Given the description of an element on the screen output the (x, y) to click on. 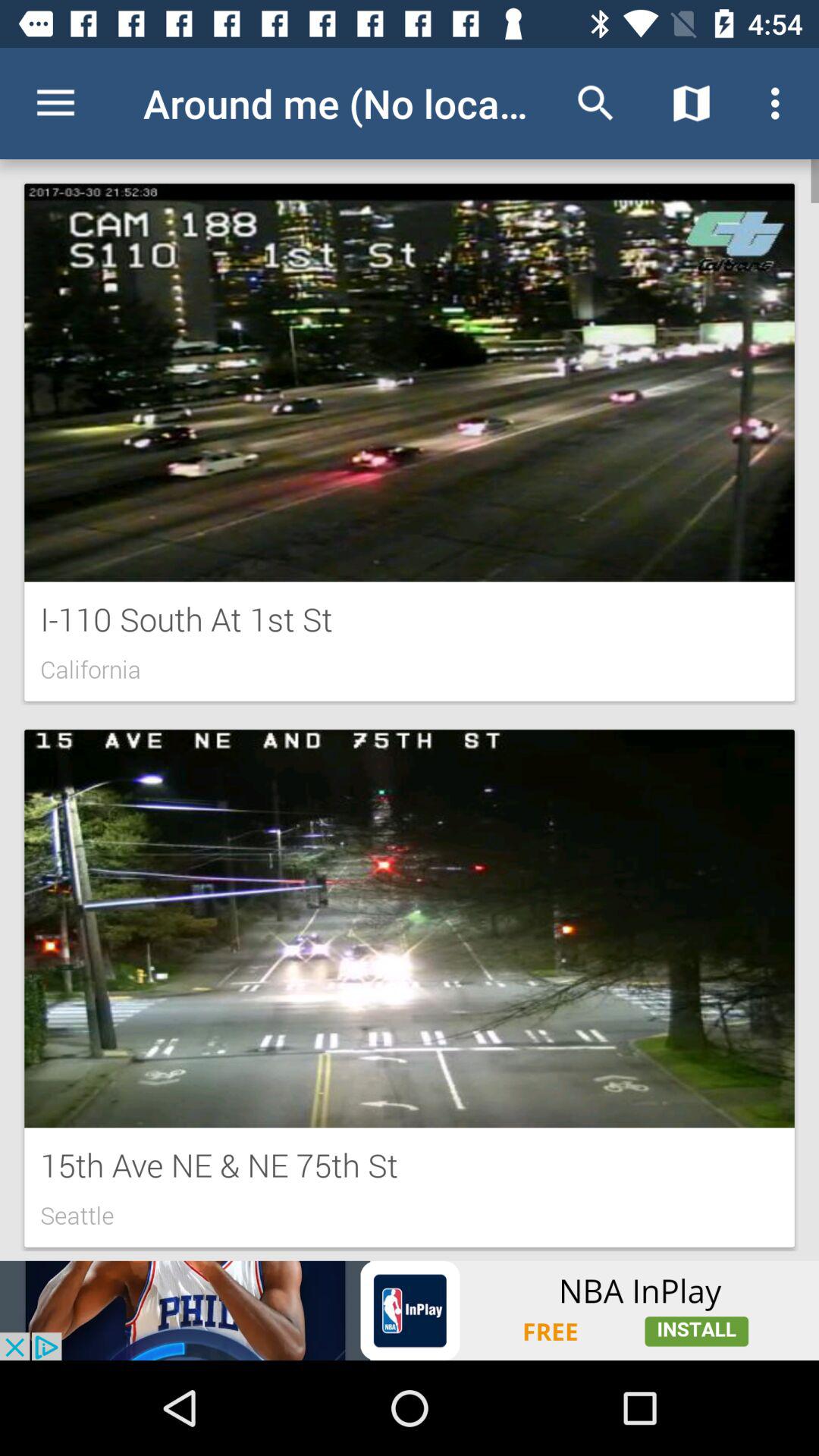
visit advertiser (409, 1310)
